Given the description of an element on the screen output the (x, y) to click on. 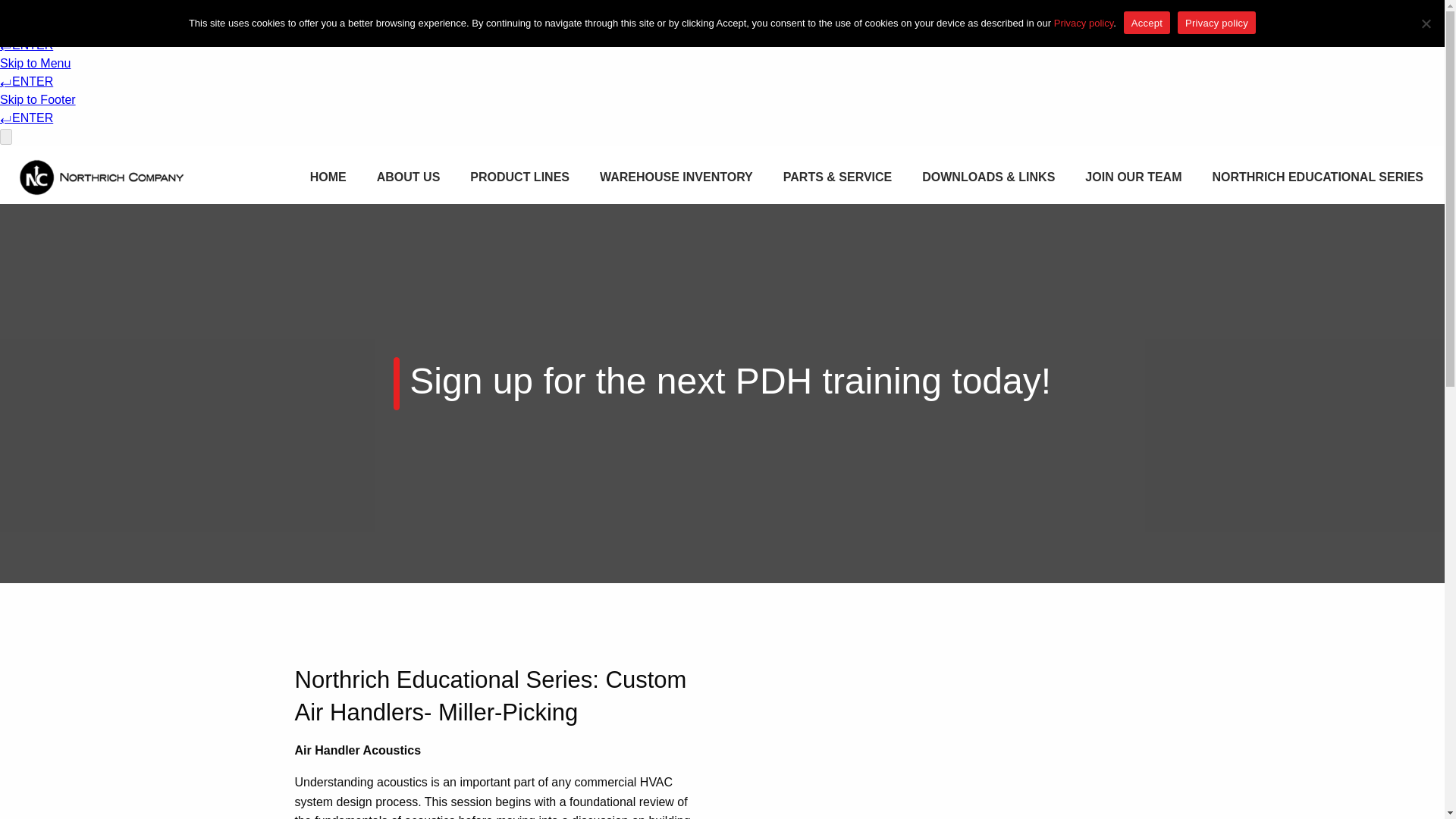
WAREHOUSE INVENTORY (676, 177)
JOIN OUR TEAM (1133, 177)
NORTHRICH EDUCATIONAL SERIES (1317, 177)
Privacy policy (1083, 21)
No (1425, 23)
PRODUCT LINES (519, 177)
ABOUT US (408, 177)
HOME (328, 177)
